Given the description of an element on the screen output the (x, y) to click on. 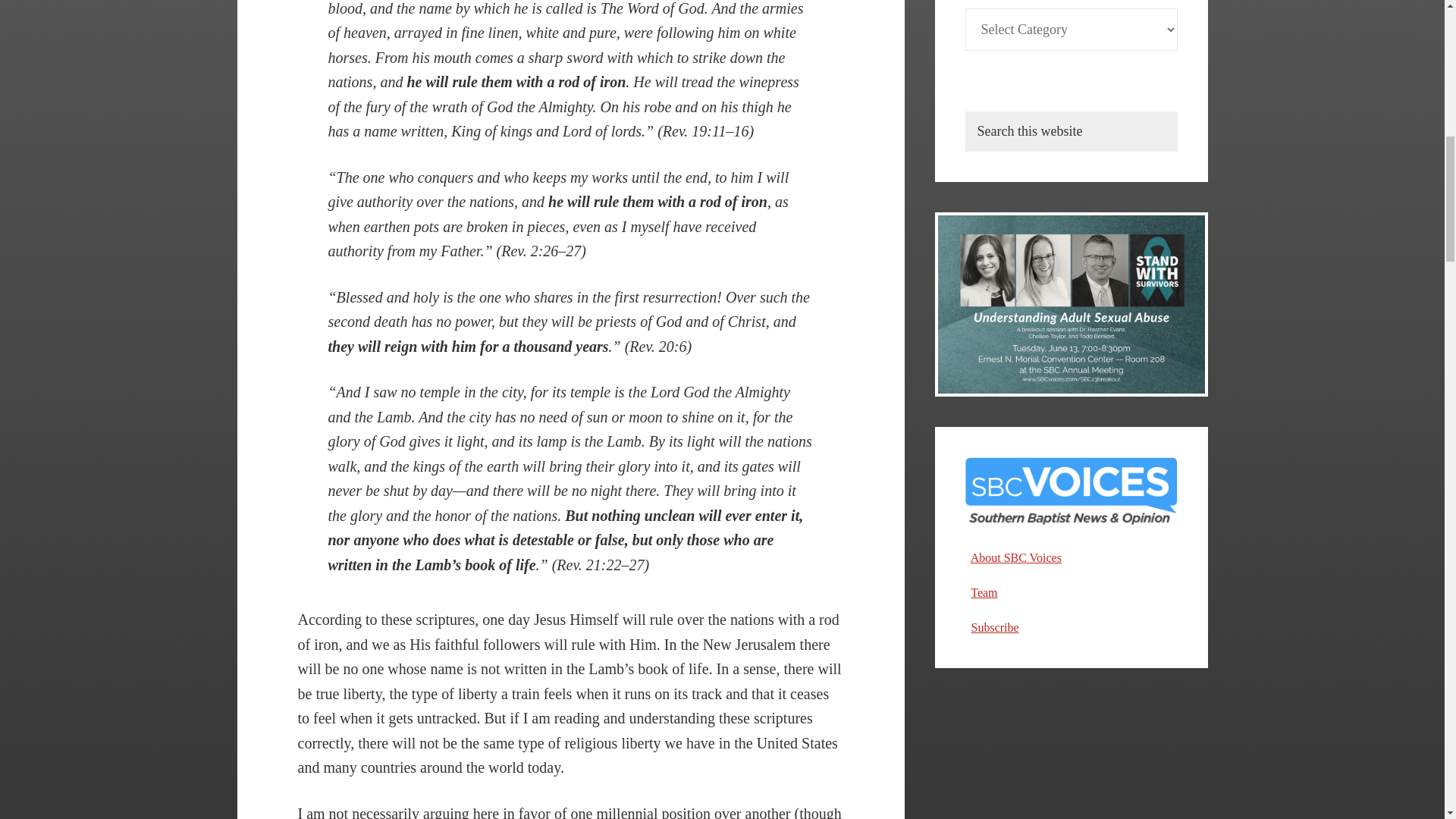
About SBC Voices (1016, 557)
Subscribe (994, 626)
Team (984, 592)
